Given the description of an element on the screen output the (x, y) to click on. 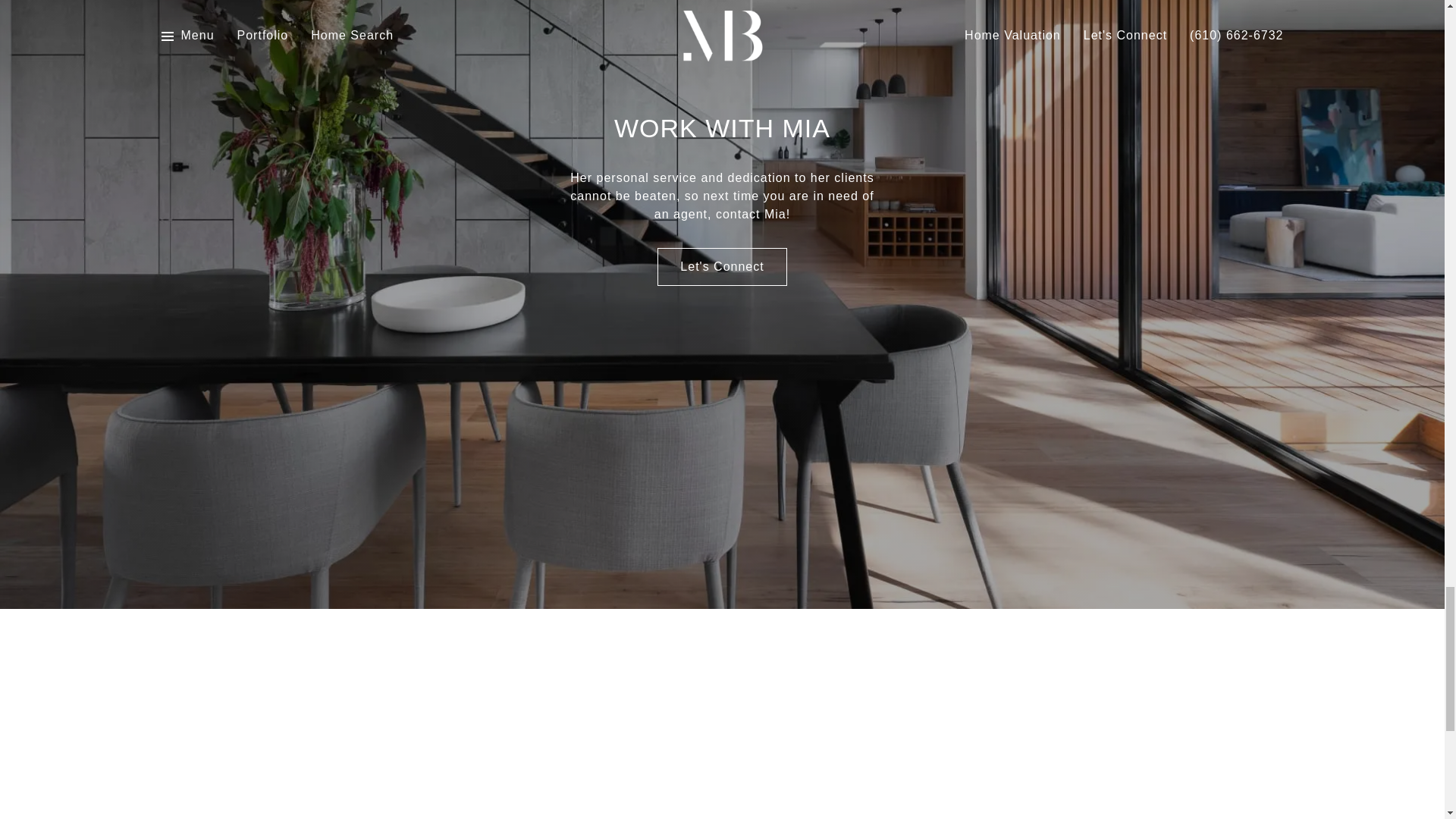
Let'S Connect (722, 266)
